Given the description of an element on the screen output the (x, y) to click on. 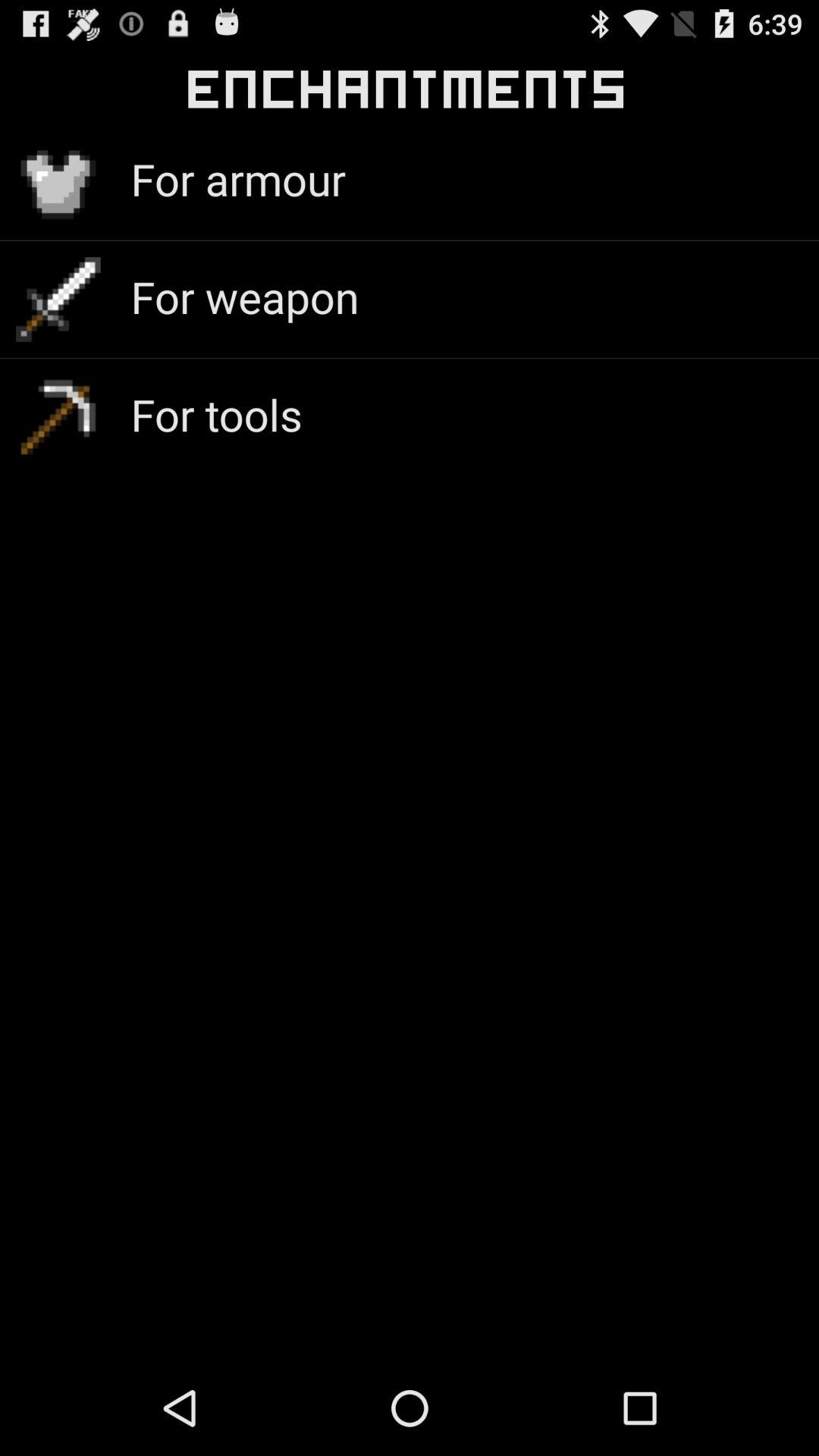
turn off the for tools app (216, 414)
